Given the description of an element on the screen output the (x, y) to click on. 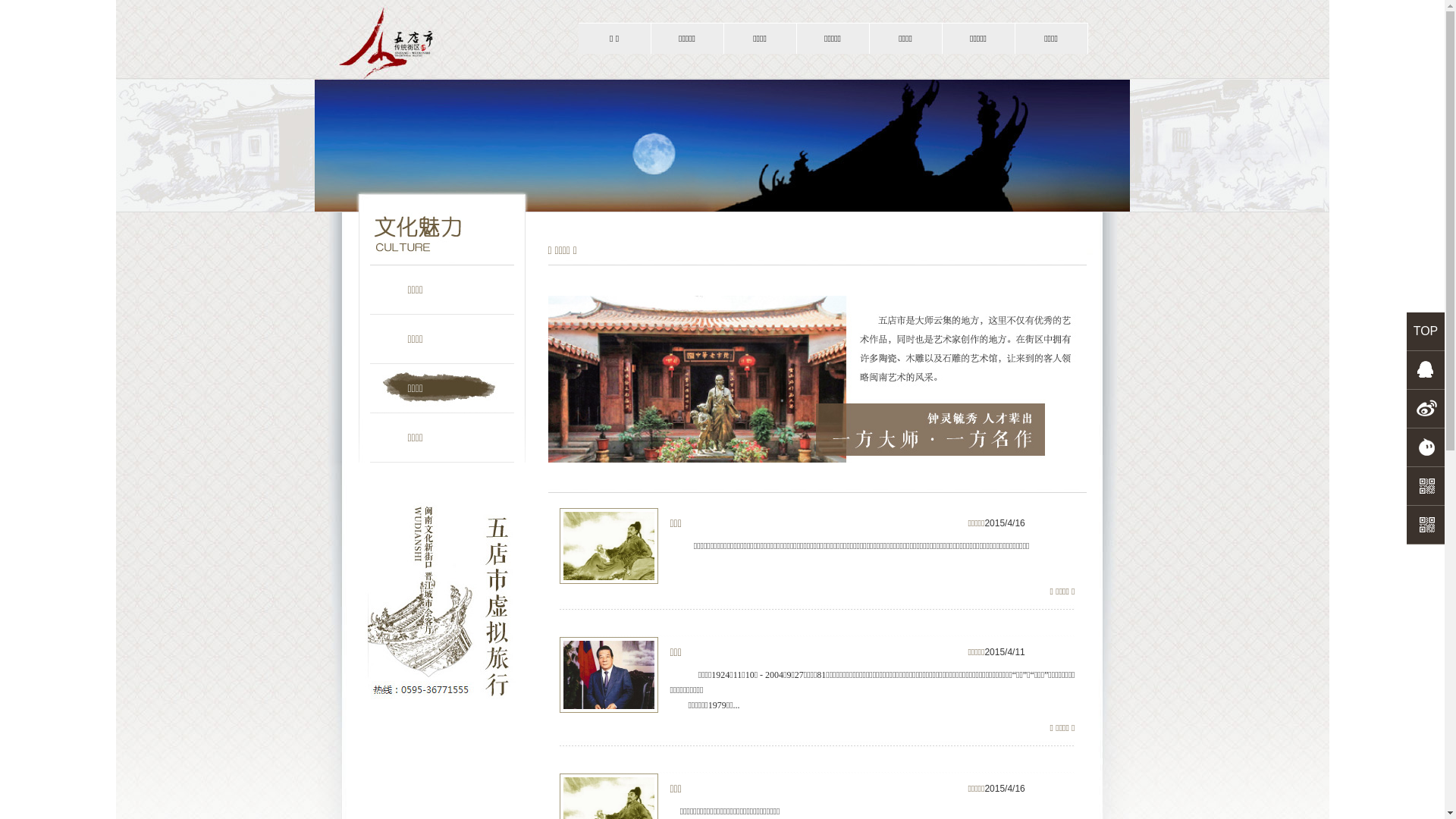
TOP Element type: text (1425, 331)
